Given the description of an element on the screen output the (x, y) to click on. 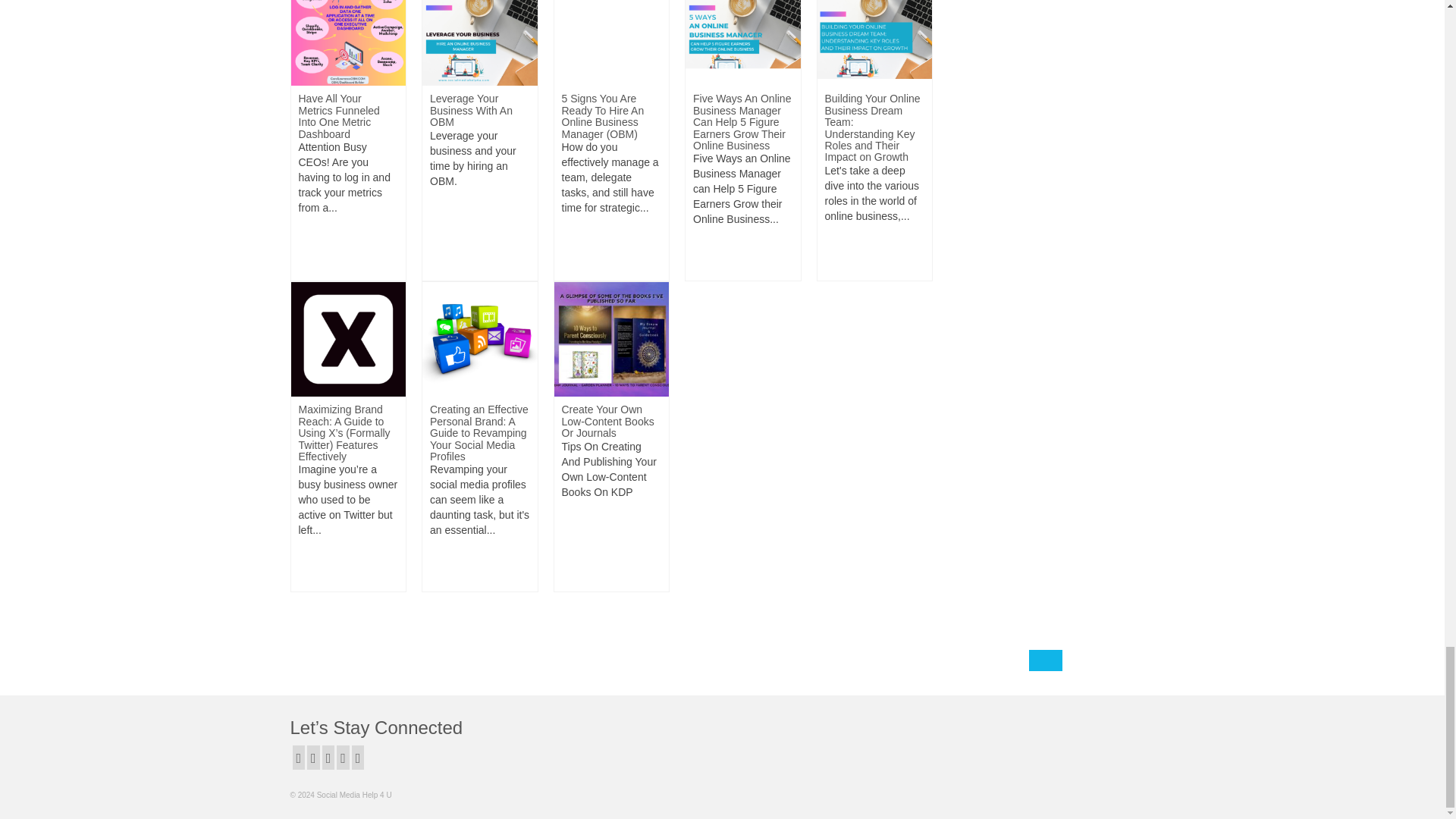
Create Your Own Low-Content Books Or Journals (610, 337)
Have All Your Metrics Funneled Into One Metric Dashboard (348, 27)
Leverage Your Business With An OBM (479, 27)
